Given the description of an element on the screen output the (x, y) to click on. 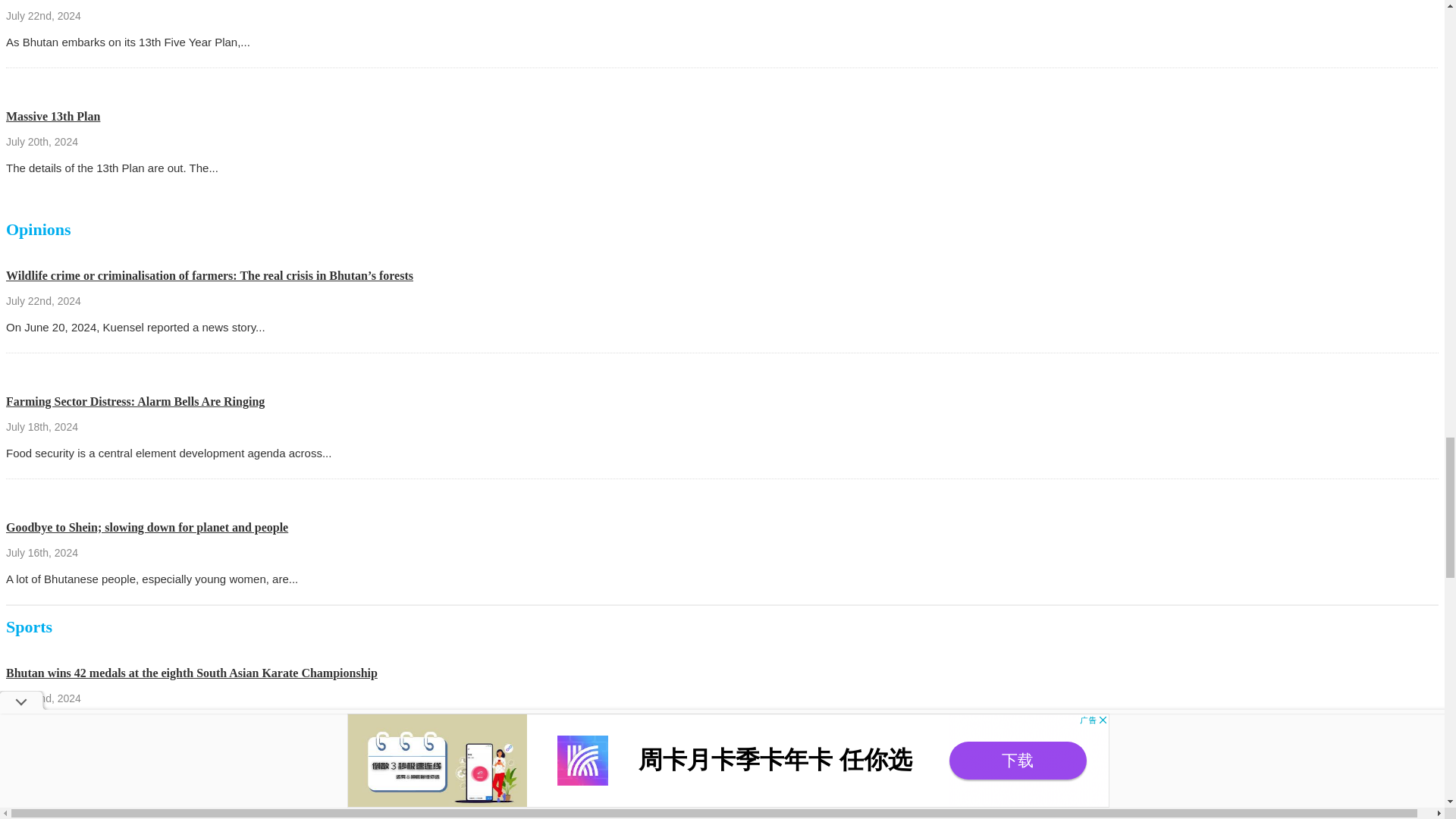
Massive 13th Plan (52, 115)
Farming Sector Distress: Alarm Bells Are Ringing (134, 400)
Goodbye to Shein; slowing down for planet and people (146, 526)
New sports insurance to safeguard athletes and coaches (148, 798)
